Given the description of an element on the screen output the (x, y) to click on. 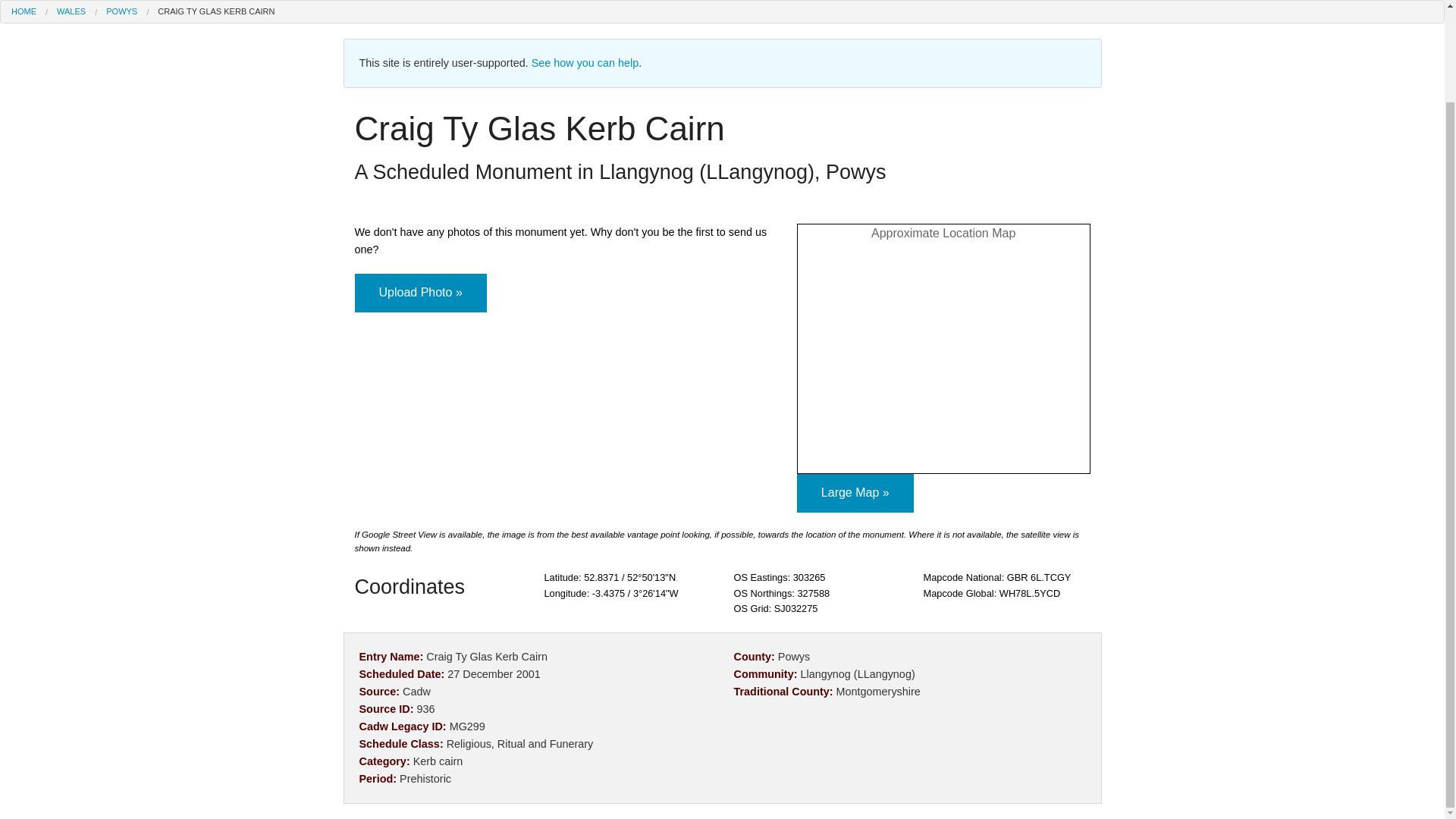
England (336, 17)
POWYS (121, 10)
See how you can help (585, 62)
Recently Scheduled Monuments (336, 153)
Errors and Corrections (590, 221)
Scotland (336, 50)
Donate (590, 255)
What's New (590, 84)
Wales (336, 84)
Photo Guidelines (590, 187)
